Given the description of an element on the screen output the (x, y) to click on. 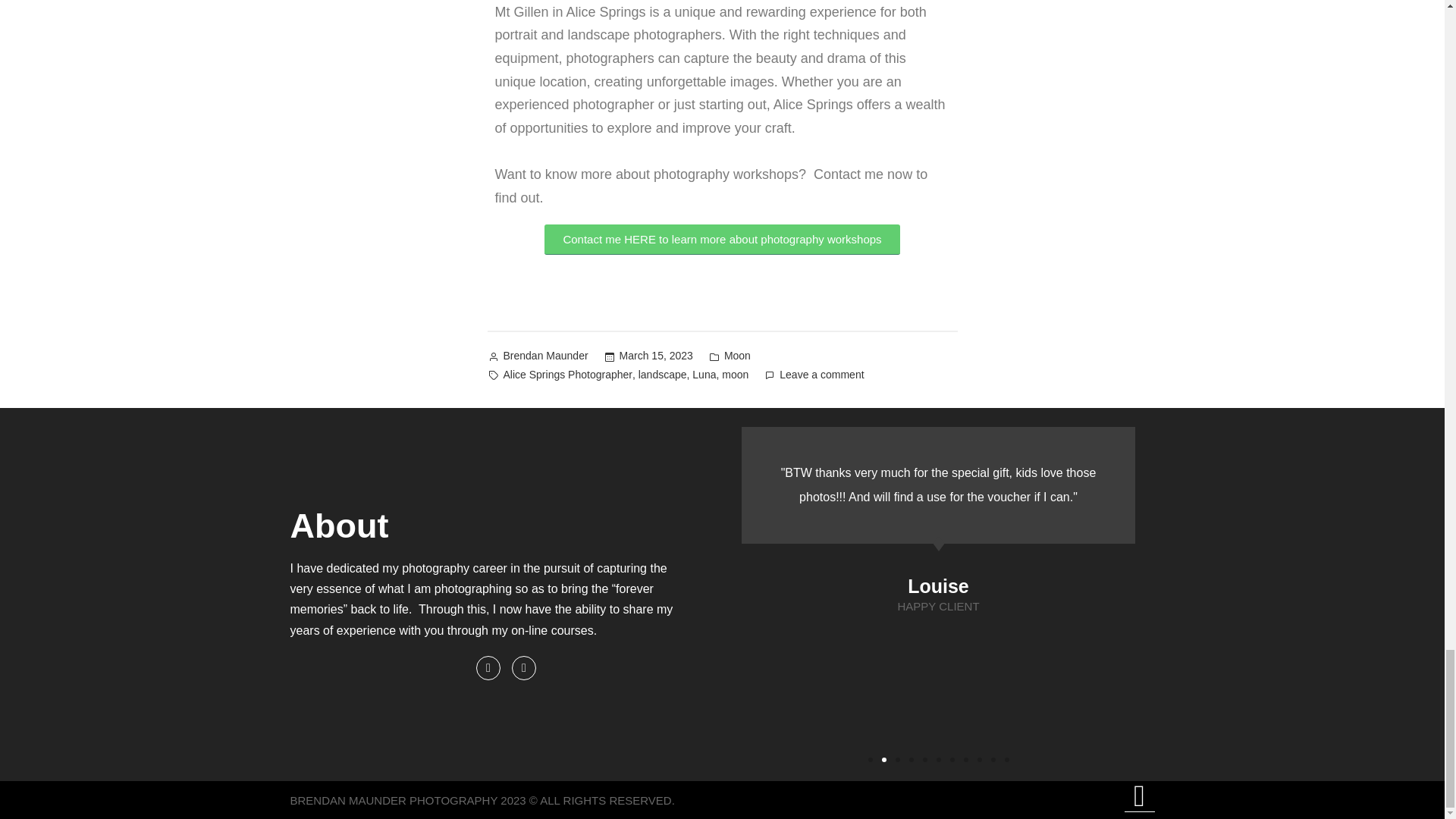
Brendan Maunder (545, 356)
Moon (737, 356)
Contact me HERE to learn more about photography workshops (721, 239)
Leave a comment (820, 375)
Luna (704, 375)
moon (735, 375)
March 15, 2023 (656, 356)
Alice Springs Photographer (567, 375)
landscape (663, 375)
